Given the description of an element on the screen output the (x, y) to click on. 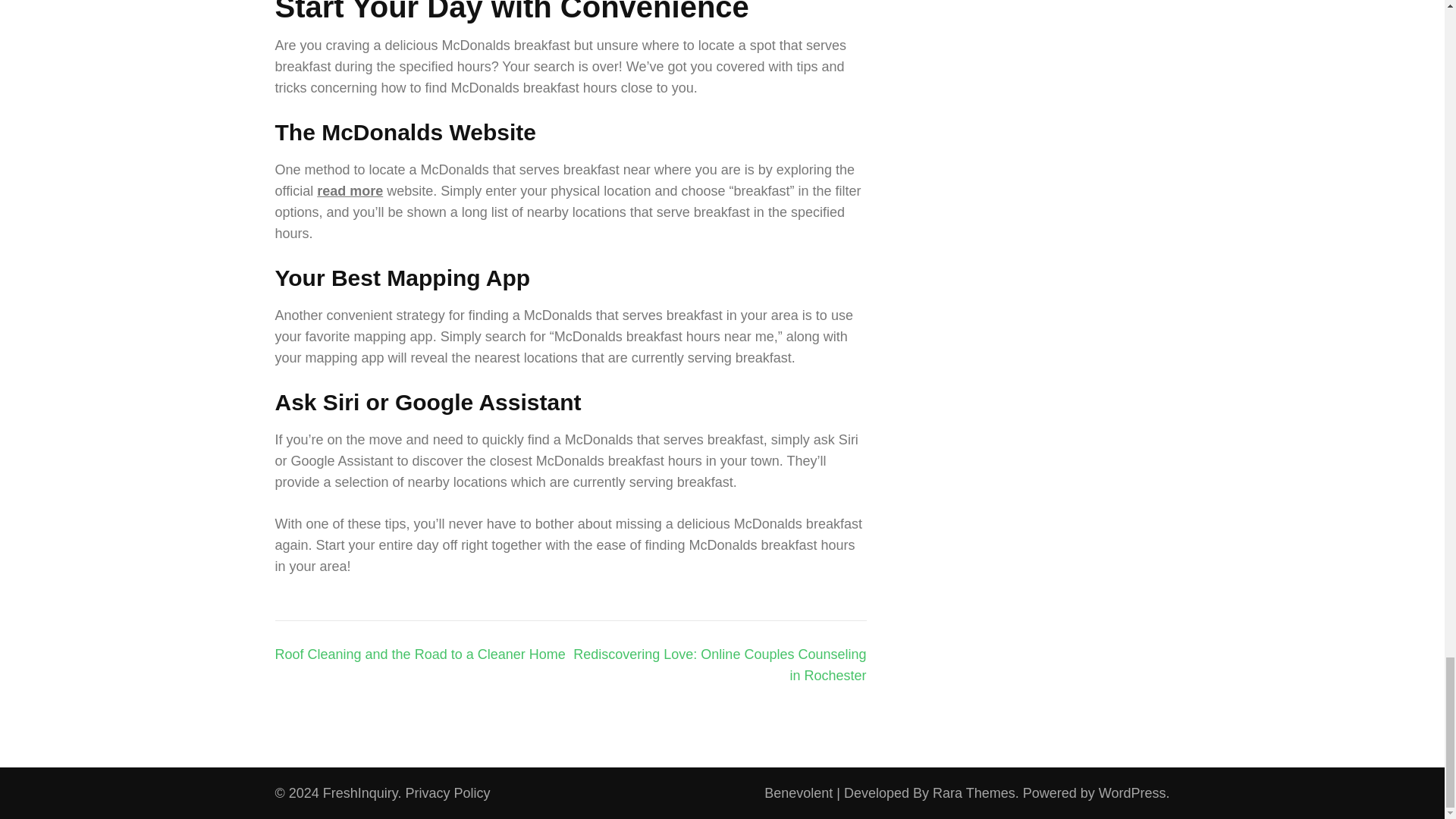
Roof Cleaning and the Road to a Cleaner Home (419, 654)
read more (349, 191)
Rediscovering Love: Online Couples Counseling in Rochester (719, 665)
